Given the description of an element on the screen output the (x, y) to click on. 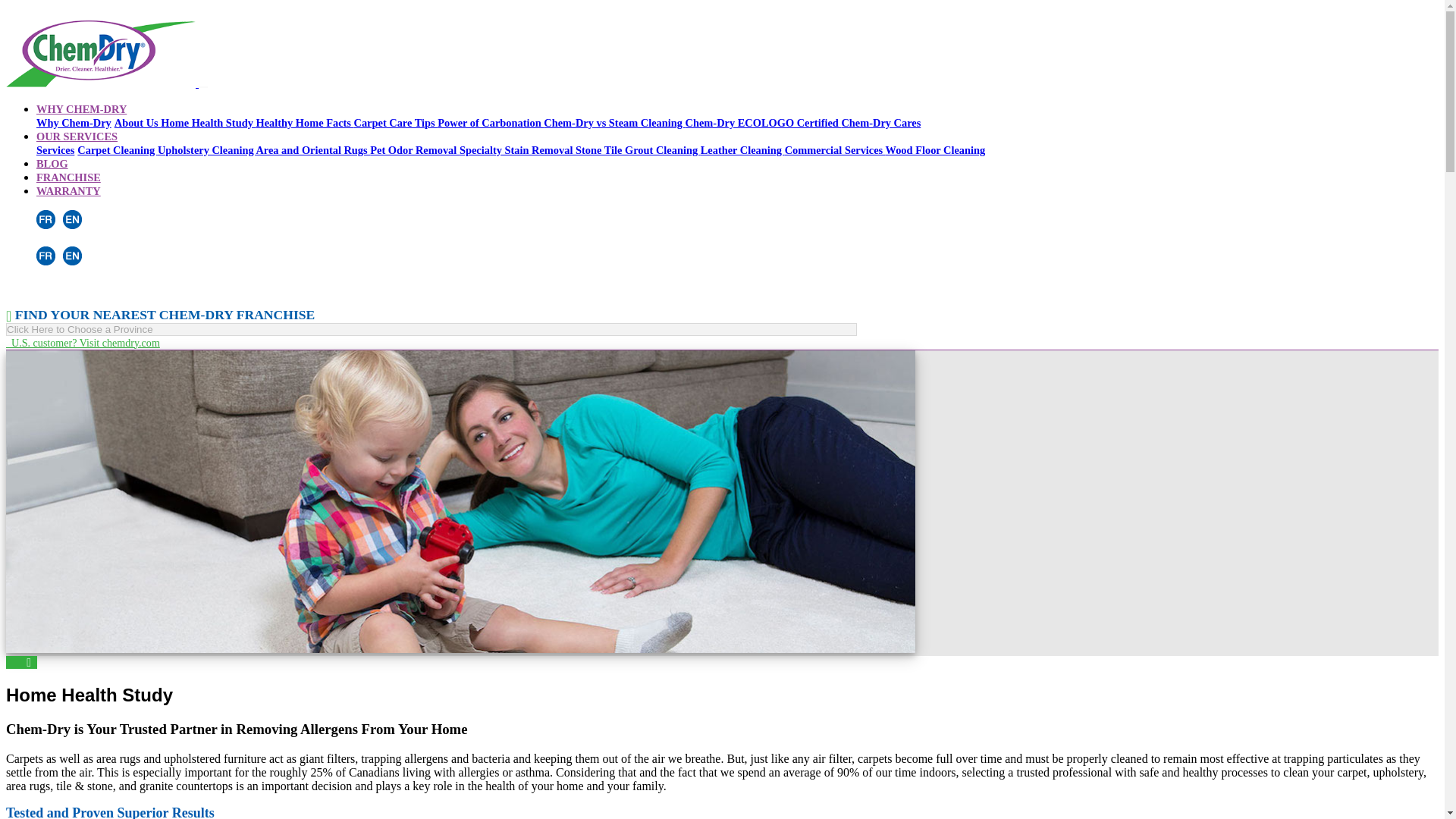
Carpet Care Tips (395, 122)
Leather Cleaning (742, 150)
ENGLISH (71, 255)
Carpet Cleaning (117, 150)
Specialty Stain Removal (517, 150)
Area and Oriental Rugs (312, 150)
Why Chem-Dry (74, 122)
FRENCH (45, 219)
Home Health Study (208, 122)
Chem-Dry Cares (880, 122)
FRANCHISE (68, 177)
Upholstery Cleaning (206, 150)
BLOG (52, 163)
  U.S. customer? Visit chemdry.com (82, 342)
Power of Carbonation (490, 122)
